Given the description of an element on the screen output the (x, y) to click on. 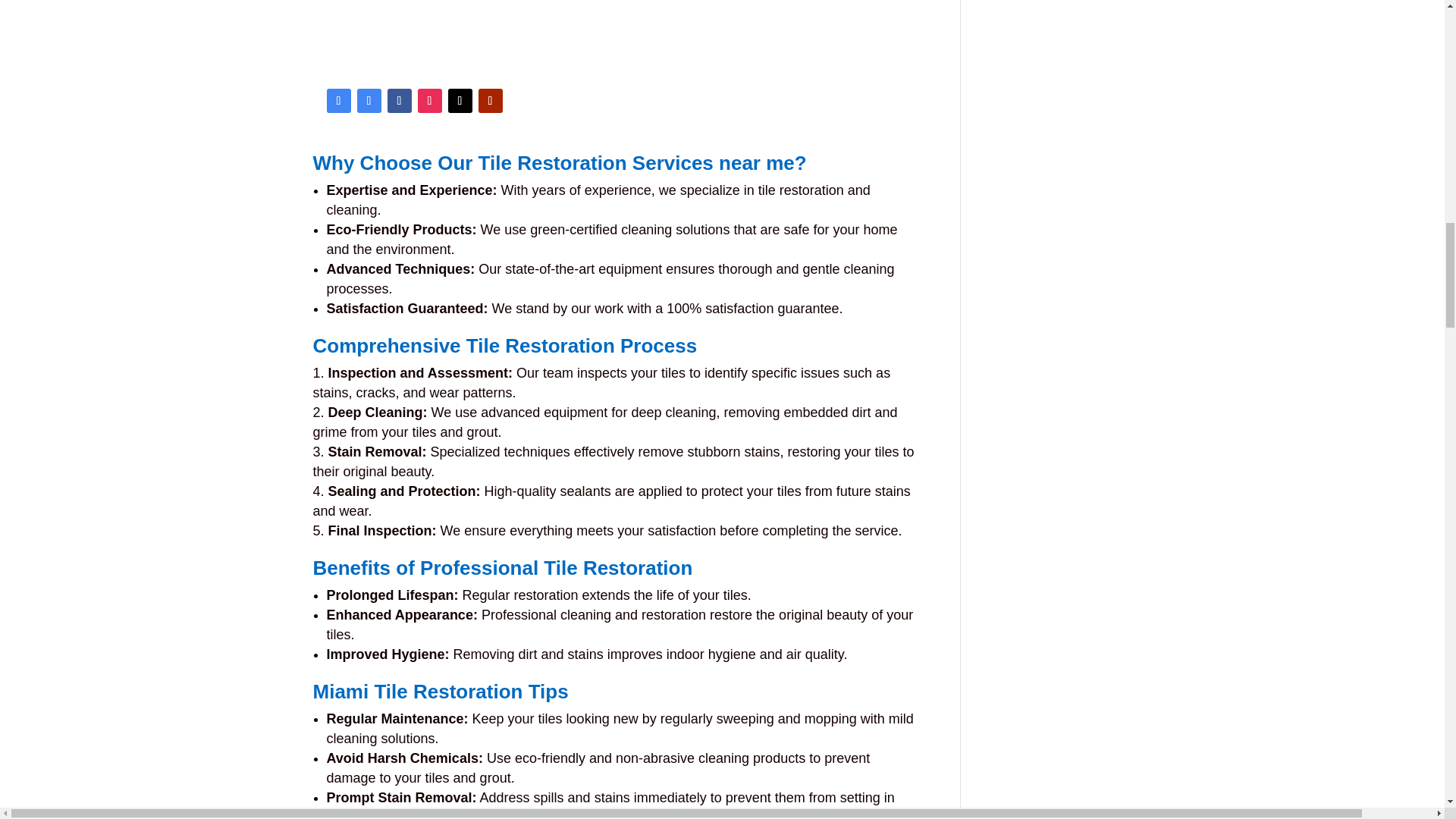
Follow on TikTok (458, 100)
Follow on Facebook (398, 100)
Follow on Youtube (489, 100)
Follow on Google (338, 100)
Follow on Googlemaps (368, 100)
Follow on Instagram (428, 100)
